Given the description of an element on the screen output the (x, y) to click on. 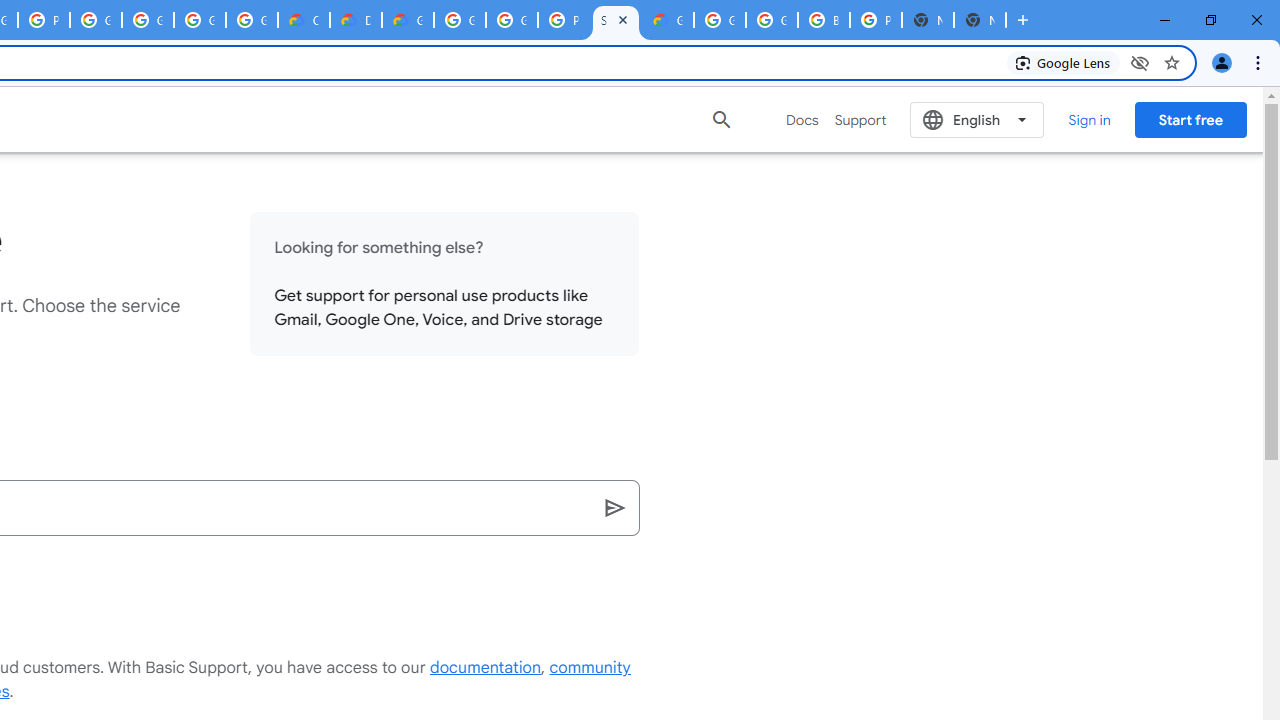
Support Hub | Google Cloud (616, 20)
Start free (1190, 119)
Google Workspace - Specific Terms (251, 20)
